Given the description of an element on the screen output the (x, y) to click on. 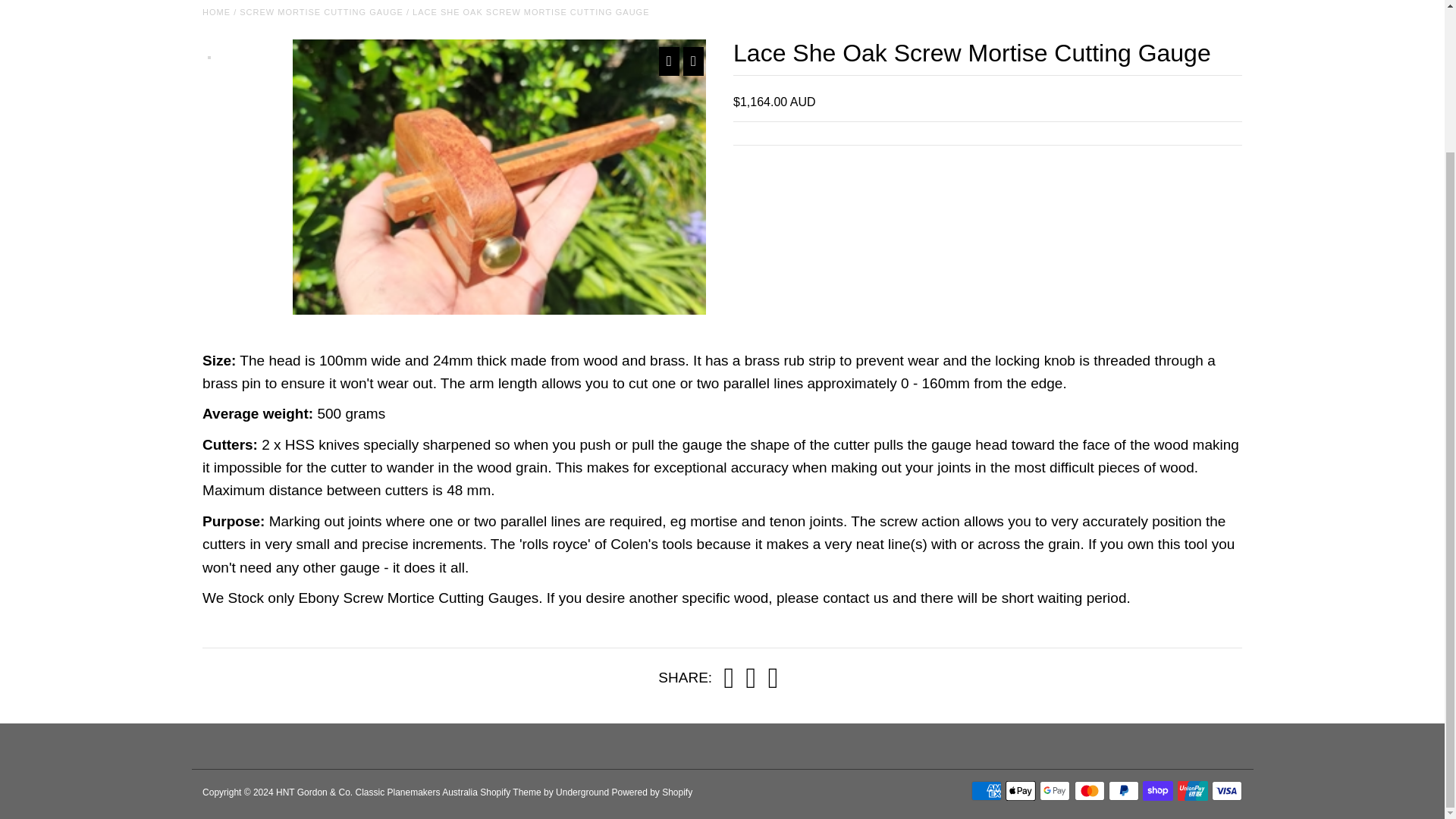
Shopify Theme (510, 792)
Home (216, 11)
Powered by Shopify (652, 792)
Shopify themes (510, 792)
Screw Mortise Cutting Gauge (321, 11)
SCREW MORTISE CUTTING GAUGE (321, 11)
HOME (216, 11)
